Given the description of an element on the screen output the (x, y) to click on. 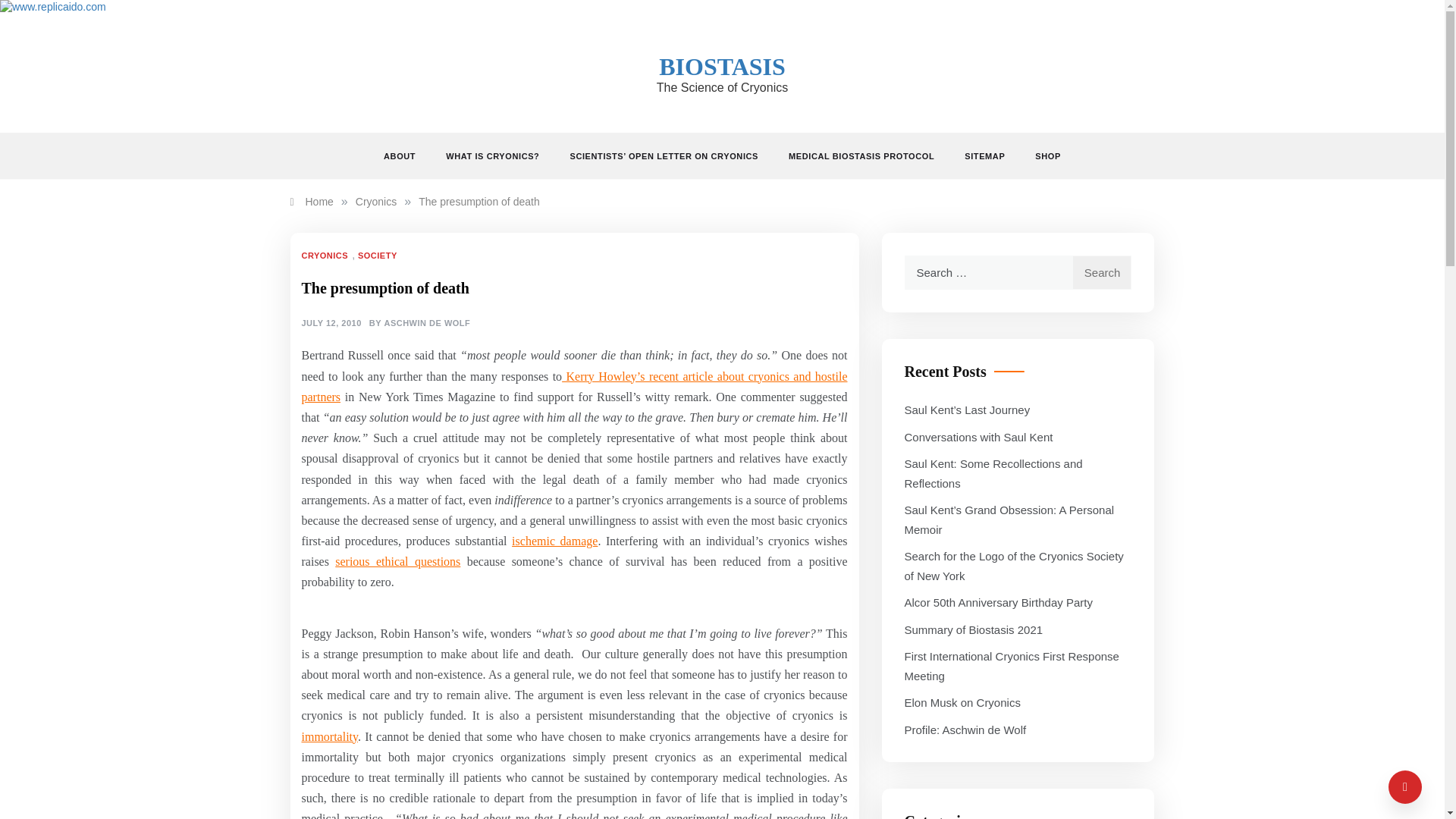
ABOUT (407, 156)
immortality (329, 736)
CRYONICS (326, 255)
serious ethical questions (397, 561)
Cryonics (375, 201)
Search (1101, 272)
ASCHWIN DE WOLF (427, 323)
ischemic damage (554, 540)
BIOSTASIS (722, 66)
SITEMAP (984, 156)
